Given the description of an element on the screen output the (x, y) to click on. 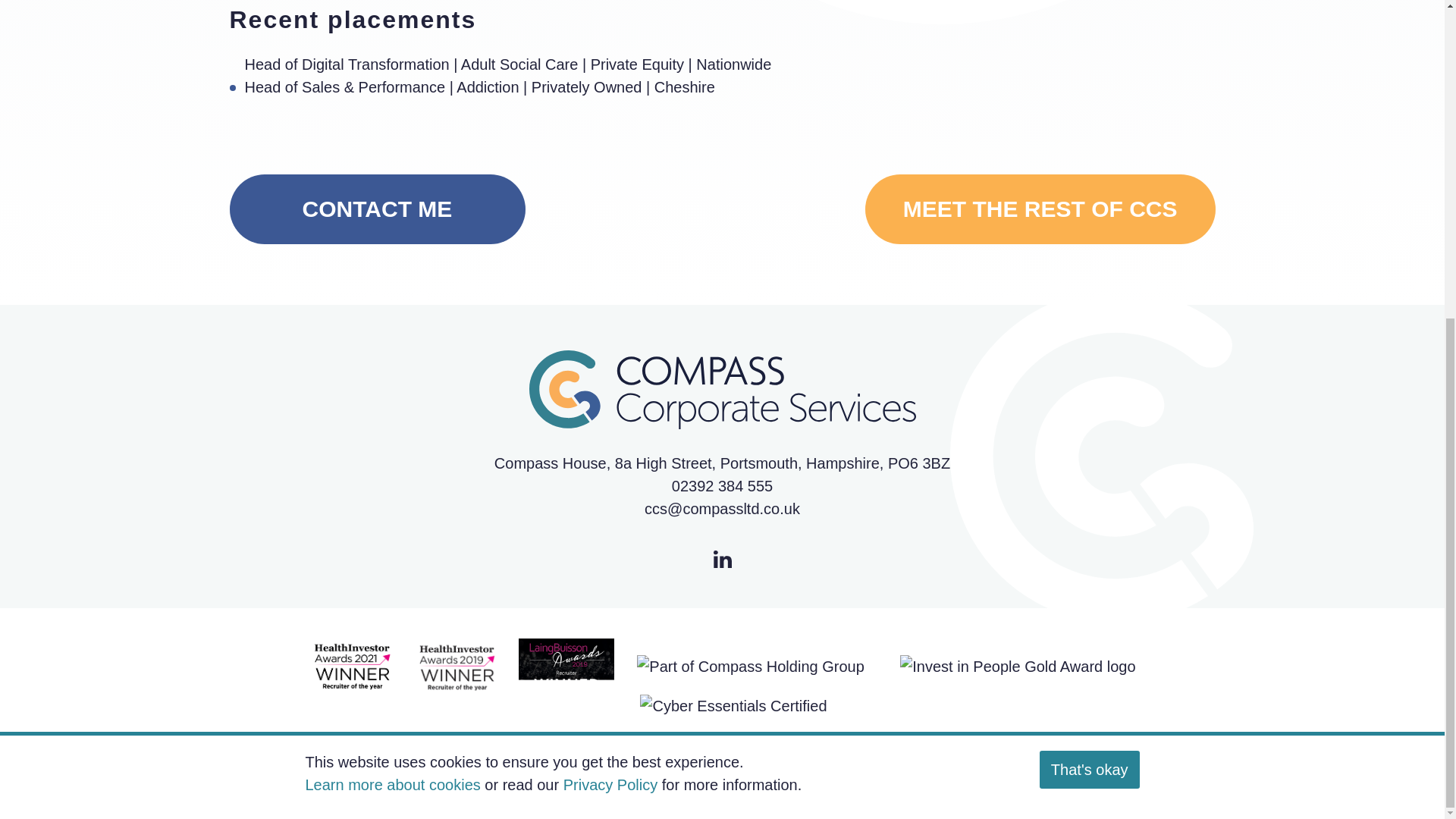
Privacy Policy (610, 357)
COVID-19 (565, 792)
Cookie Policy (1168, 782)
Isle of Wight Web Design (891, 792)
02392 384 555 (1168, 782)
Privacy Policy (722, 485)
CONTACT ME (790, 792)
MEET THE REST OF CCS (376, 209)
Learn more about cookies (1039, 209)
